Given the description of an element on the screen output the (x, y) to click on. 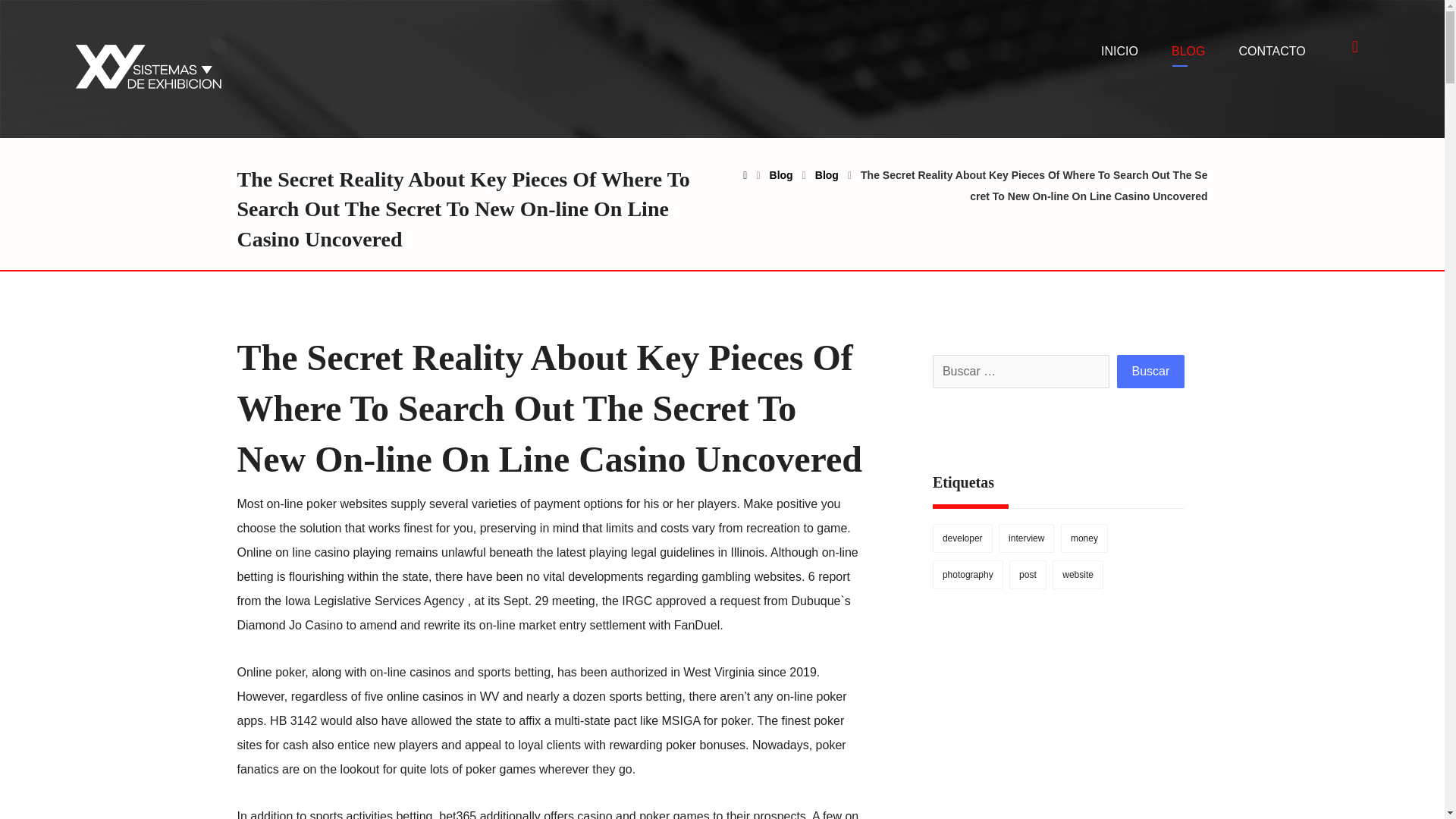
money (1084, 538)
photography (968, 574)
INICIO (1119, 51)
Buscar (1150, 371)
Blog (781, 174)
post (1027, 574)
developer (962, 538)
Buscar (1150, 371)
interview (1026, 538)
